Given the description of an element on the screen output the (x, y) to click on. 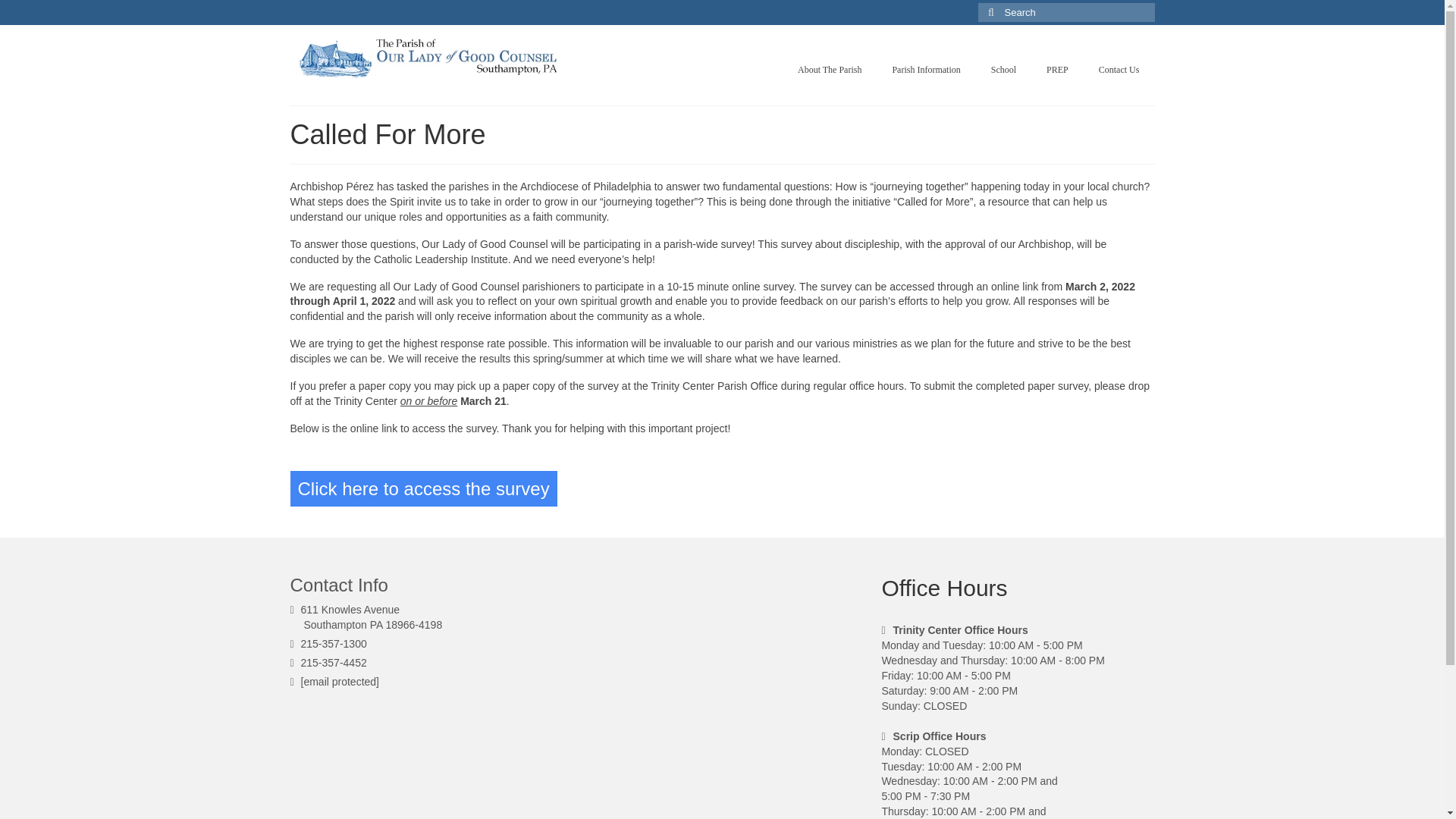
About The Parish (829, 69)
School (1002, 69)
Parish Information (925, 69)
PREP (1056, 69)
Contact Us (1118, 69)
